Given the description of an element on the screen output the (x, y) to click on. 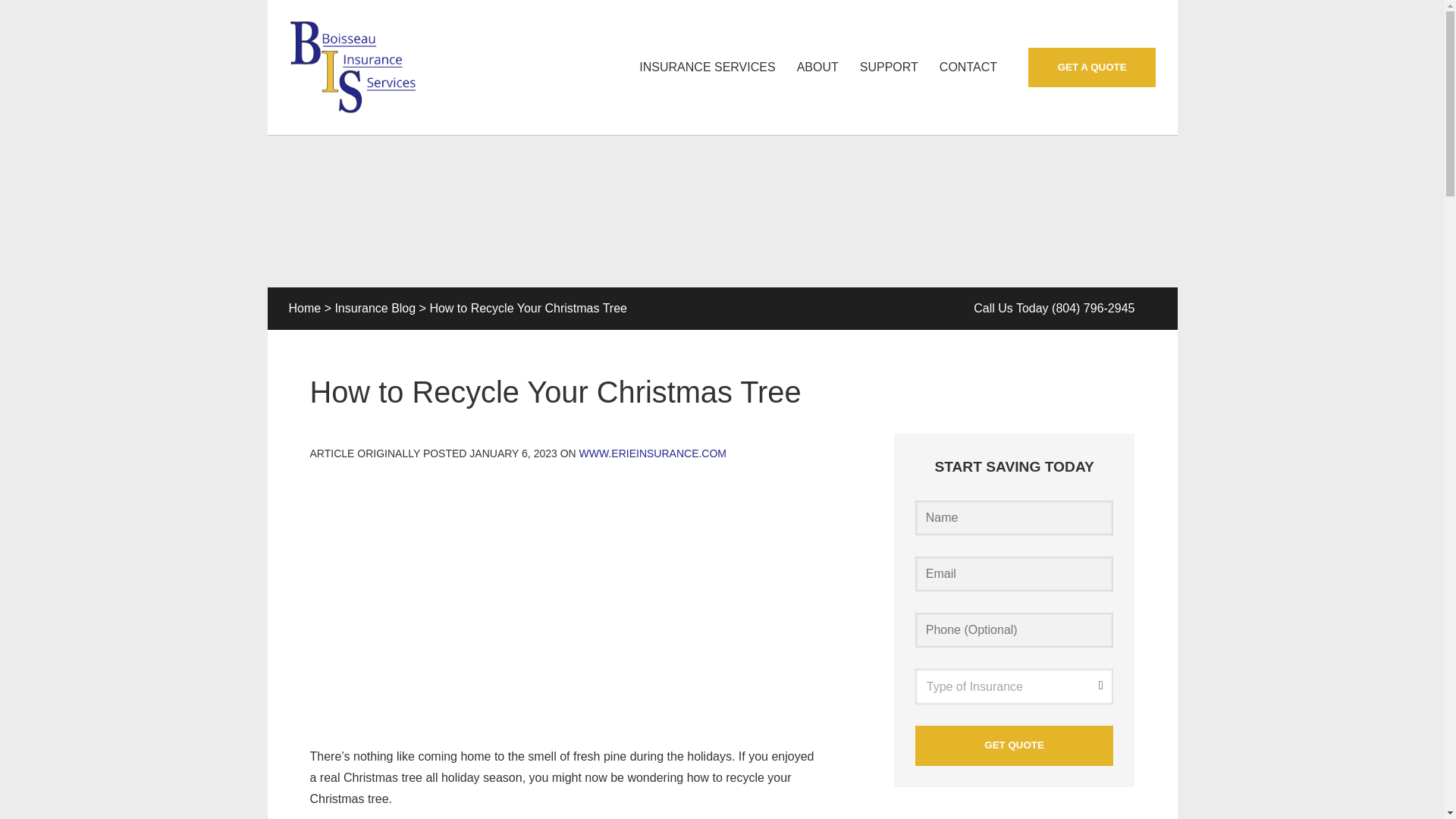
SUPPORT (888, 66)
Boisseau Insurance Services Logo (352, 67)
INSURANCE SERVICES (707, 66)
ABOUT (817, 66)
christmastreerecycle (569, 599)
Get Quote (1014, 744)
